Given the description of an element on the screen output the (x, y) to click on. 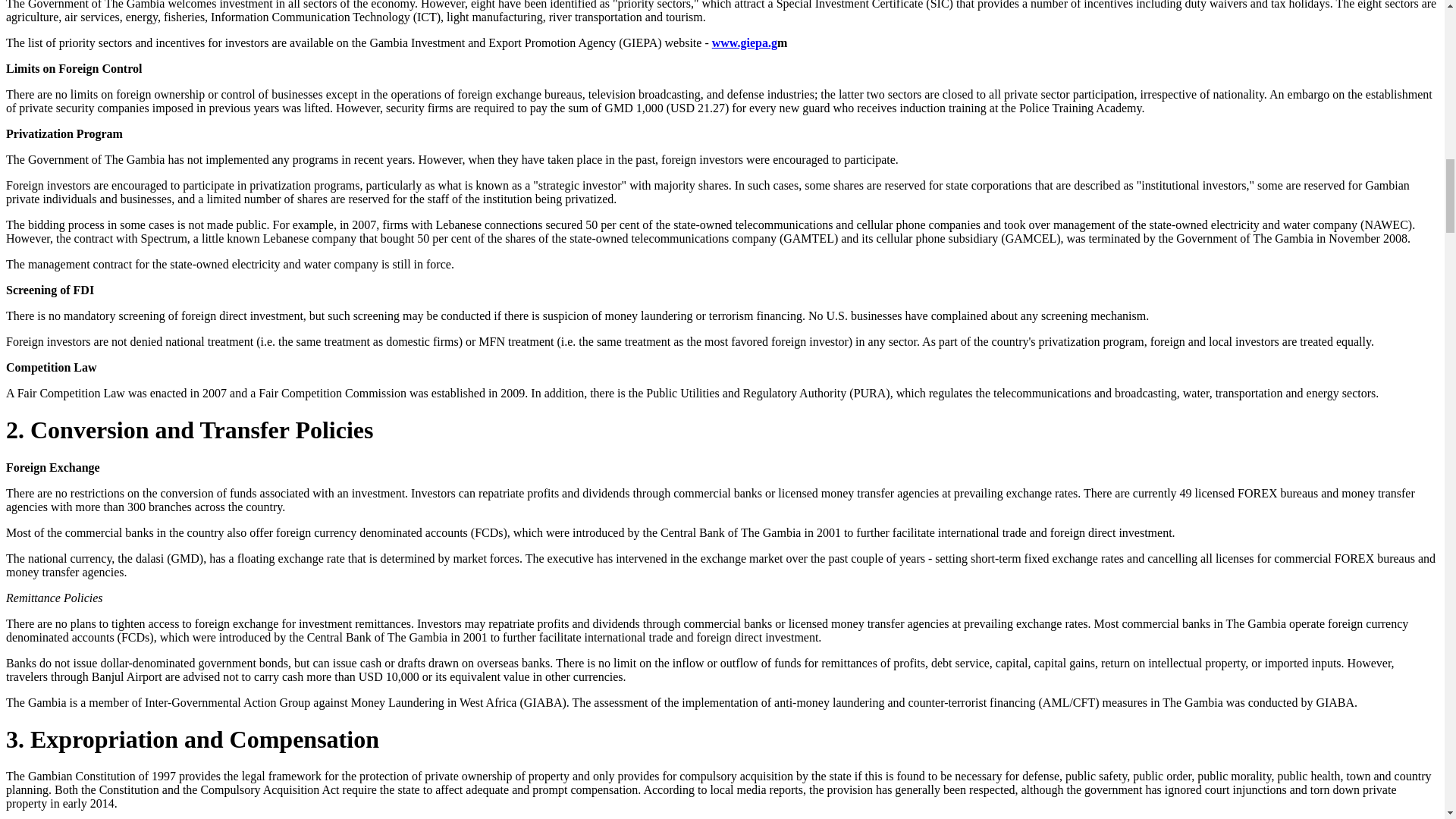
www.giepa.g (744, 42)
